Given the description of an element on the screen output the (x, y) to click on. 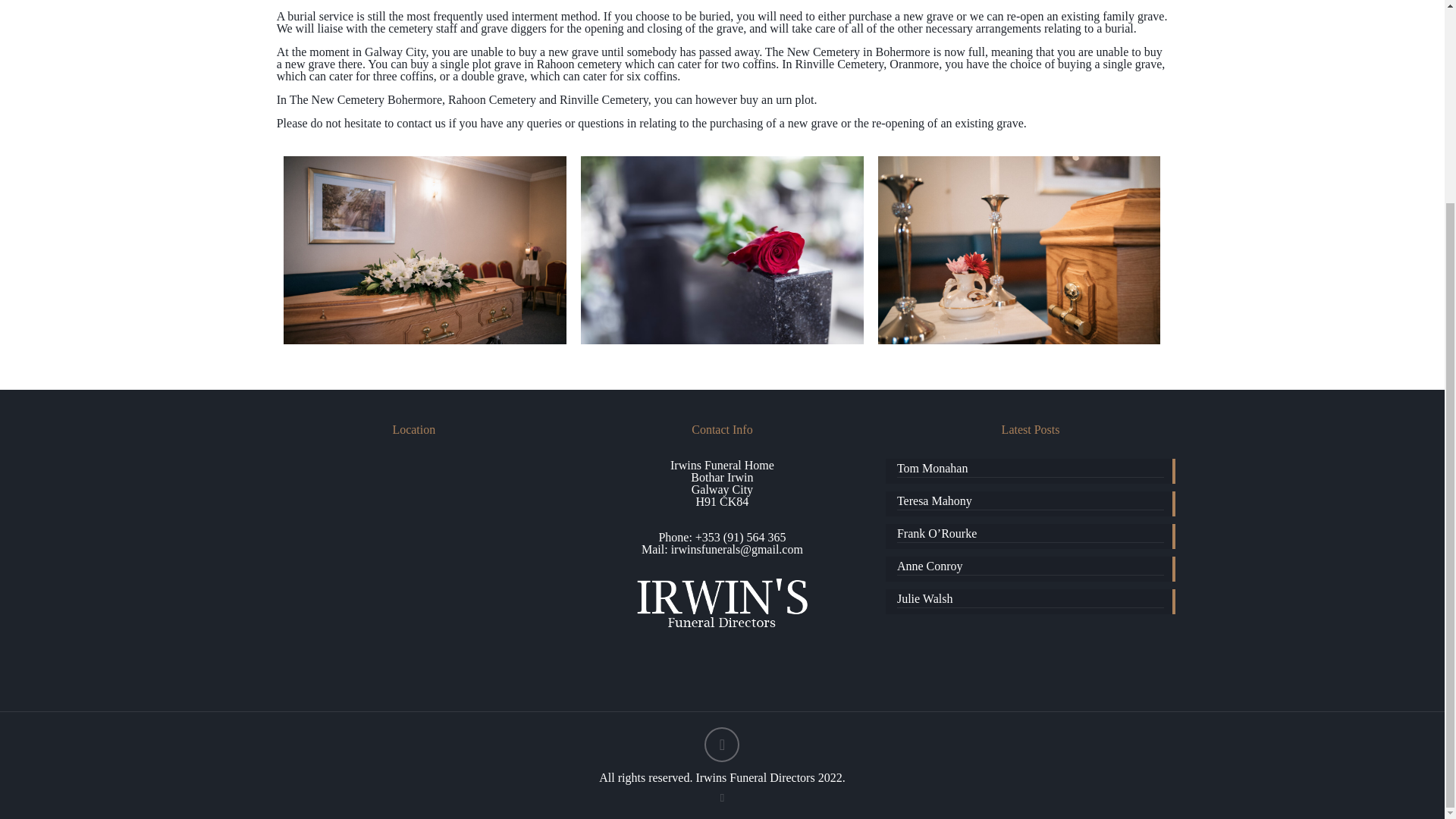
Teresa Mahony (1029, 502)
Julie Walsh (1029, 600)
Instagram (722, 797)
Anne Conroy (1029, 567)
Tom Monahan (1029, 469)
